Given the description of an element on the screen output the (x, y) to click on. 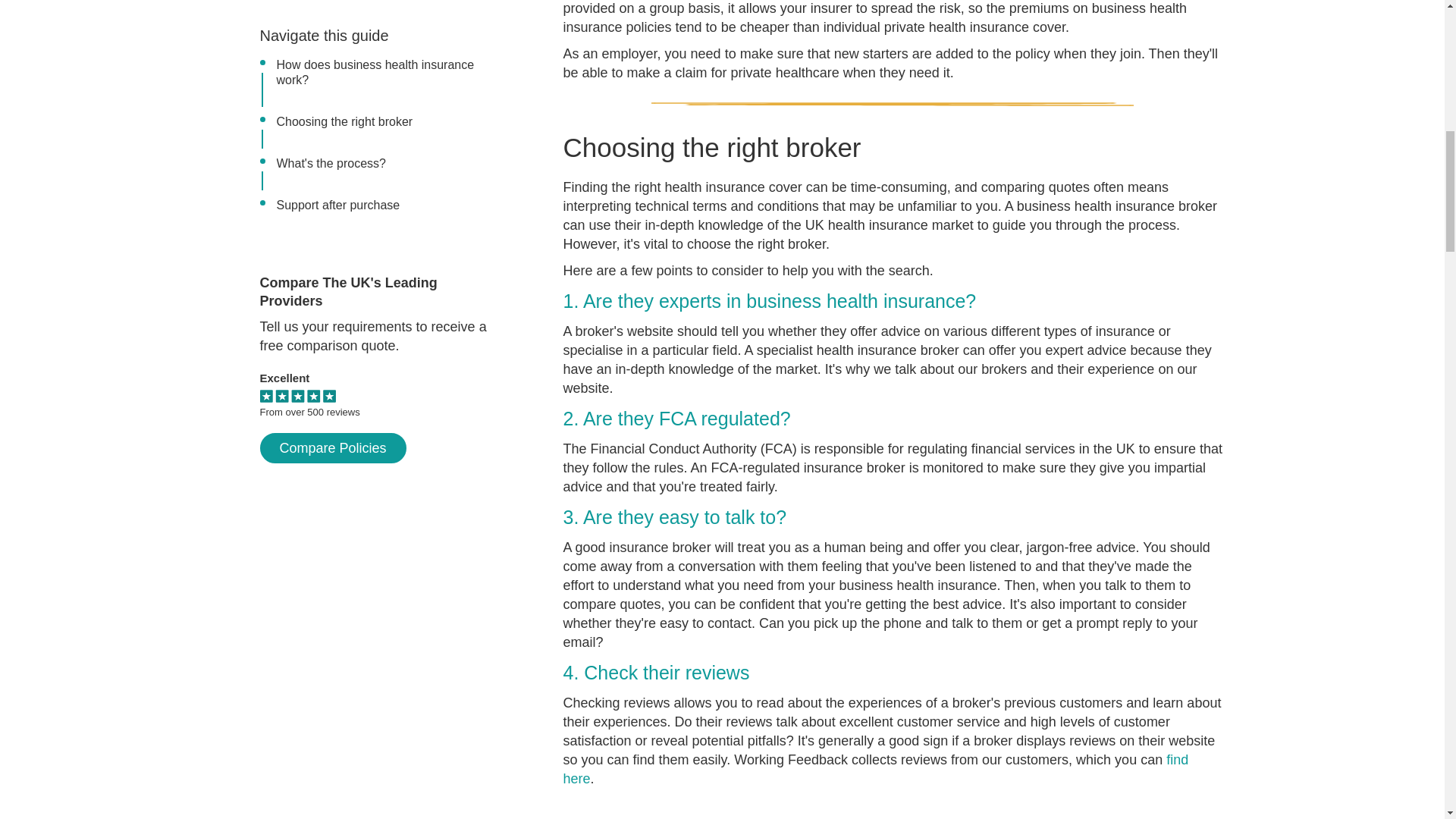
Support after purchase (337, 84)
find here (875, 769)
What's the process? (330, 43)
Choosing the right broker (344, 4)
Compare Policies (332, 327)
